Given the description of an element on the screen output the (x, y) to click on. 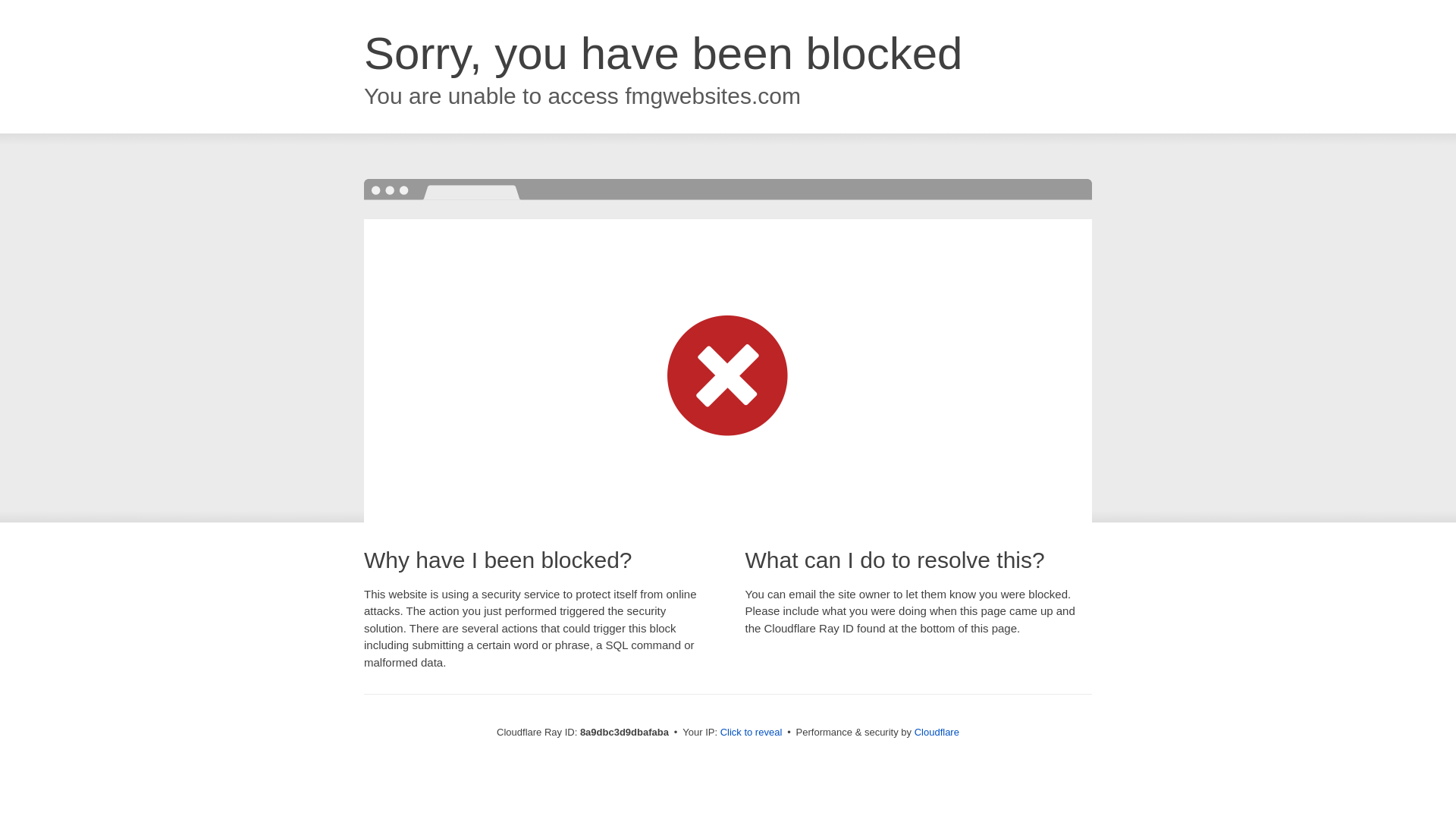
Click to reveal (751, 732)
Cloudflare (936, 731)
